Given the description of an element on the screen output the (x, y) to click on. 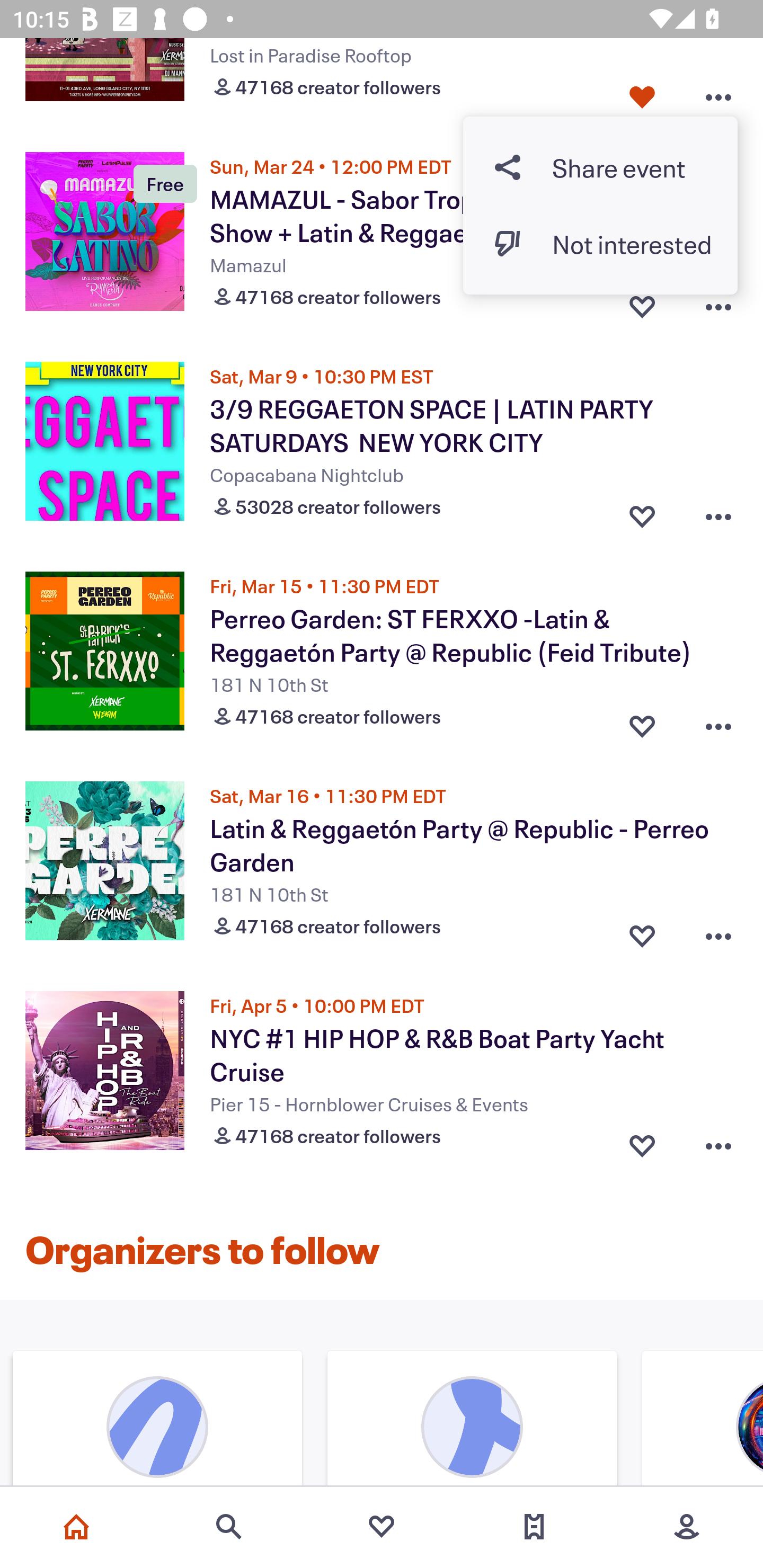
Share button Share event (600, 166)
Dislike event button Not interested (600, 243)
